Given the description of an element on the screen output the (x, y) to click on. 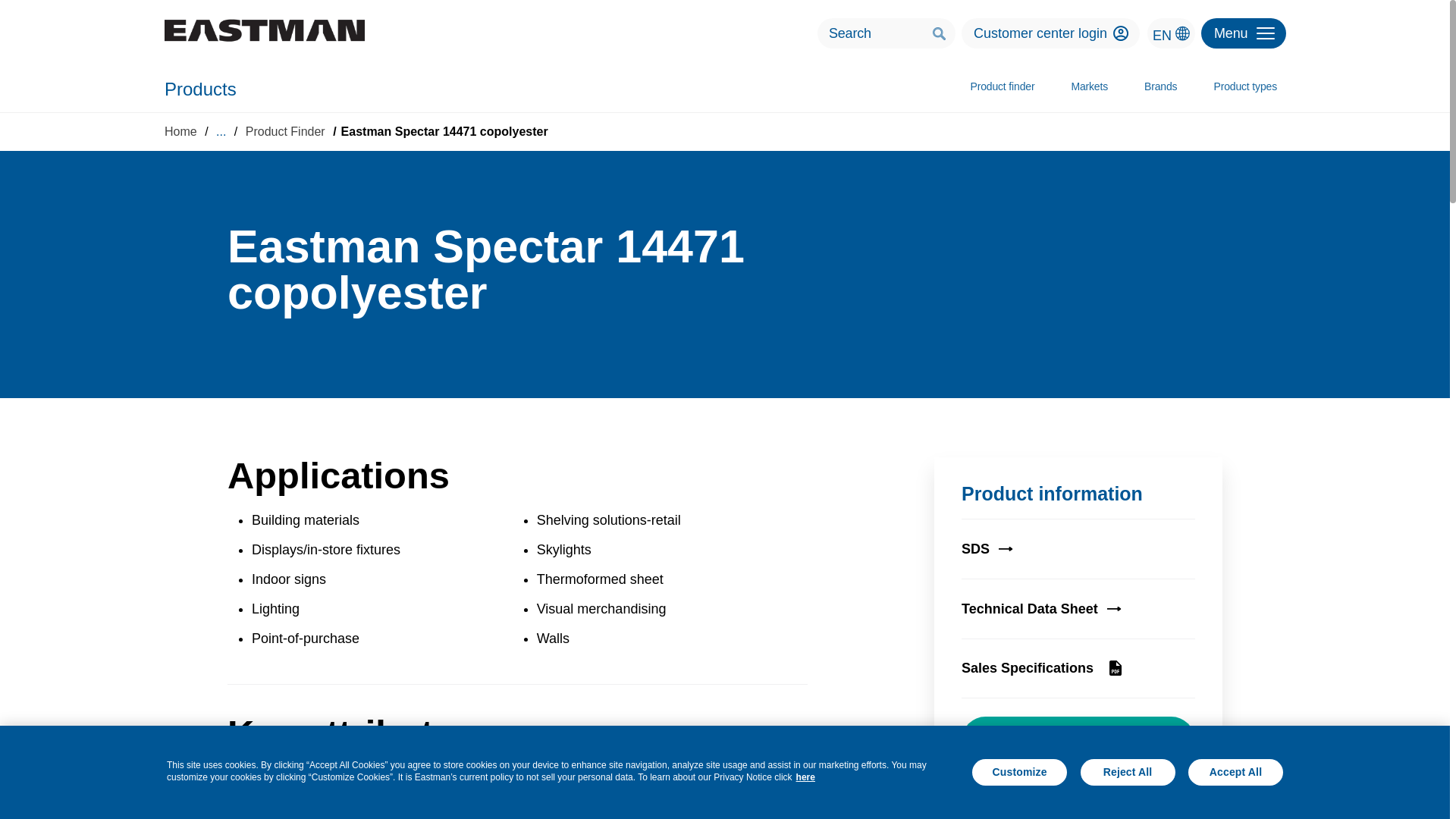
Customer center login (1120, 32)
Customer center login (1050, 33)
Menu (1243, 33)
Eastman Company  (264, 30)
